Given the description of an element on the screen output the (x, y) to click on. 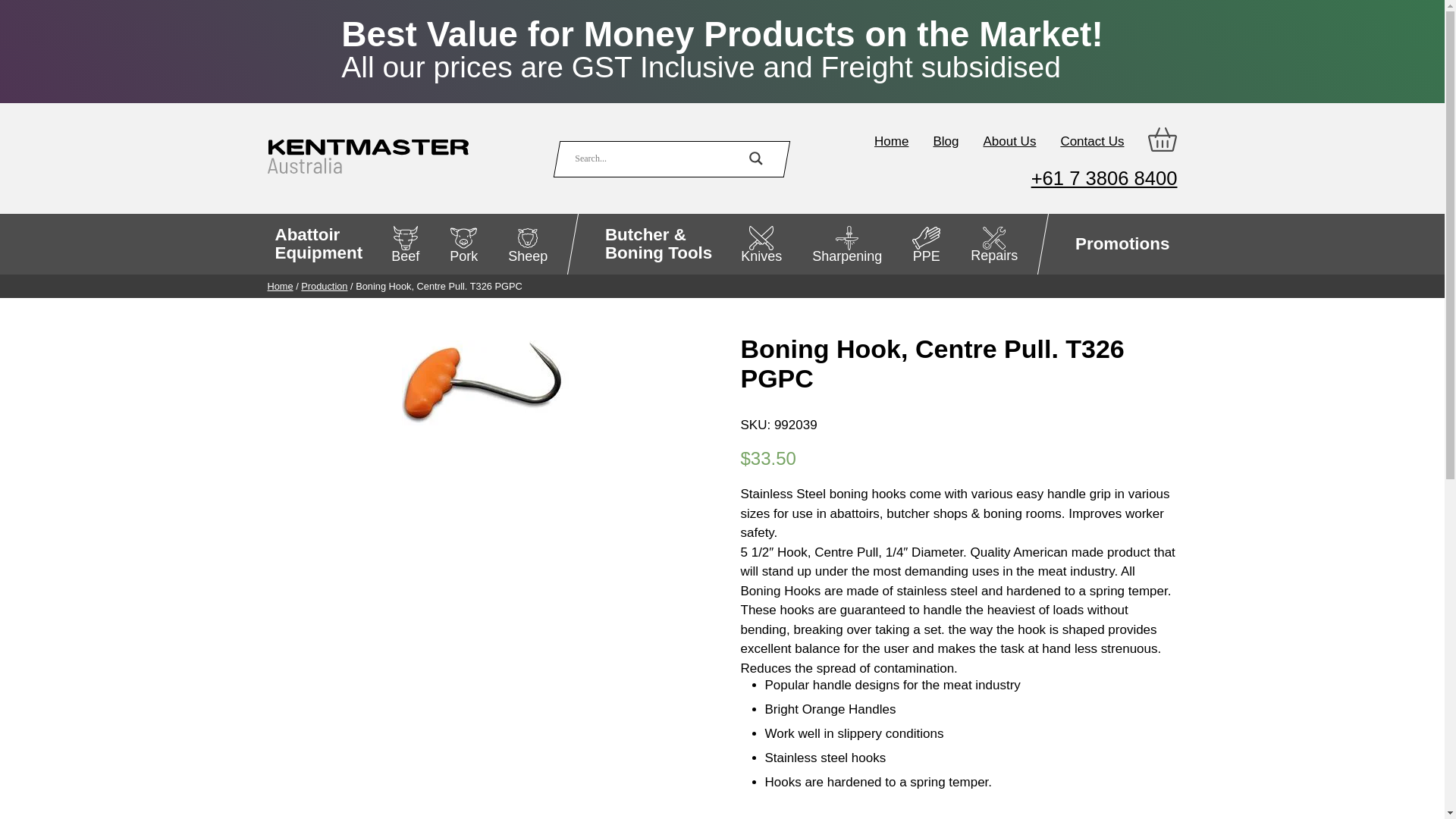
992039 (485, 382)
Gift Ideas for Butcher (1121, 243)
Home (279, 285)
Contact Us (1091, 141)
Blog (317, 243)
Production (945, 141)
Promotions (324, 285)
Sharpening tools (1121, 243)
About Us (847, 243)
